Given the description of an element on the screen output the (x, y) to click on. 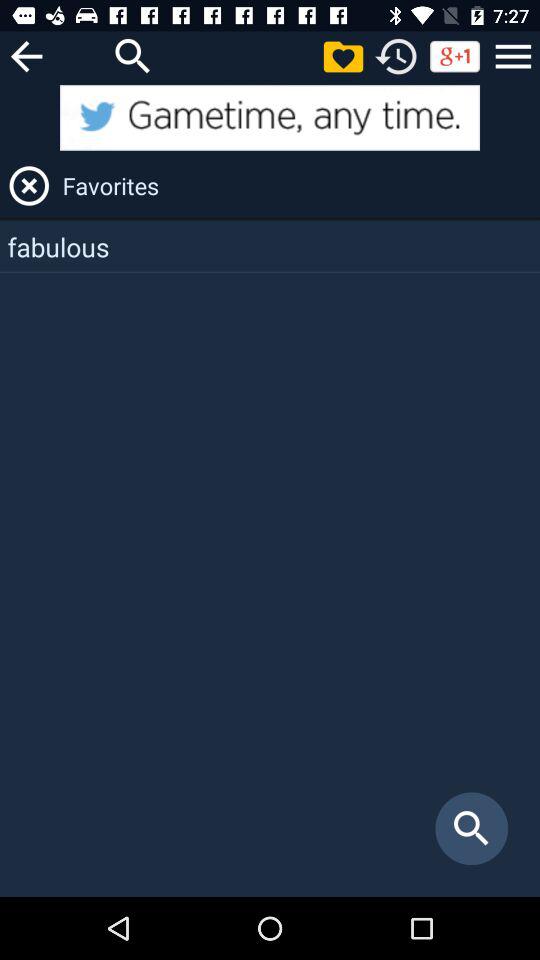
zoom (133, 56)
